Given the description of an element on the screen output the (x, y) to click on. 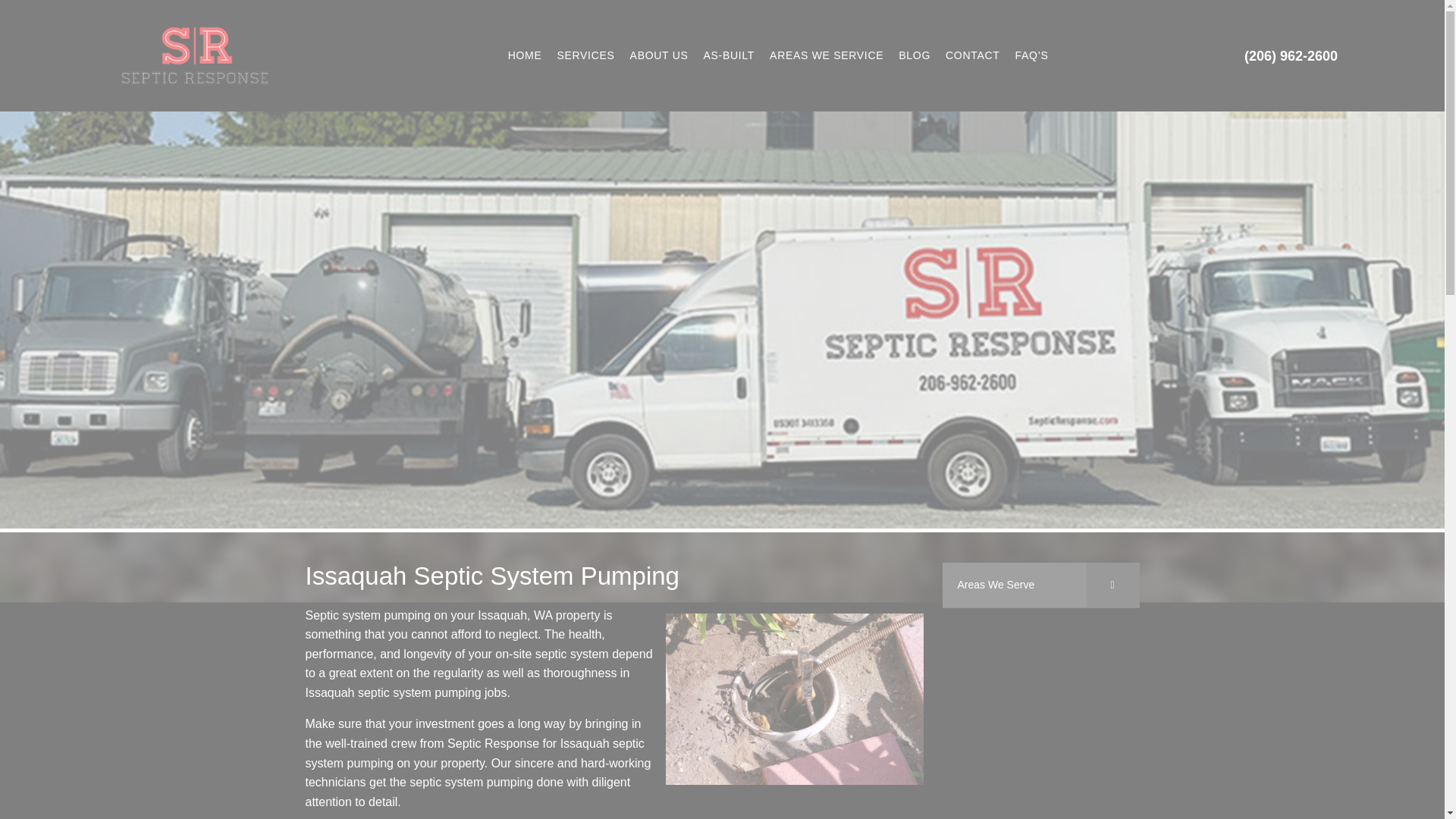
CONTACT (972, 55)
BLOG (914, 55)
SERVICES (584, 55)
AREAS WE SERVICE (826, 55)
ABOUT US (659, 55)
AS-BUILT (728, 55)
Areas We Serve (1040, 584)
HOME (525, 55)
